Given the description of an element on the screen output the (x, y) to click on. 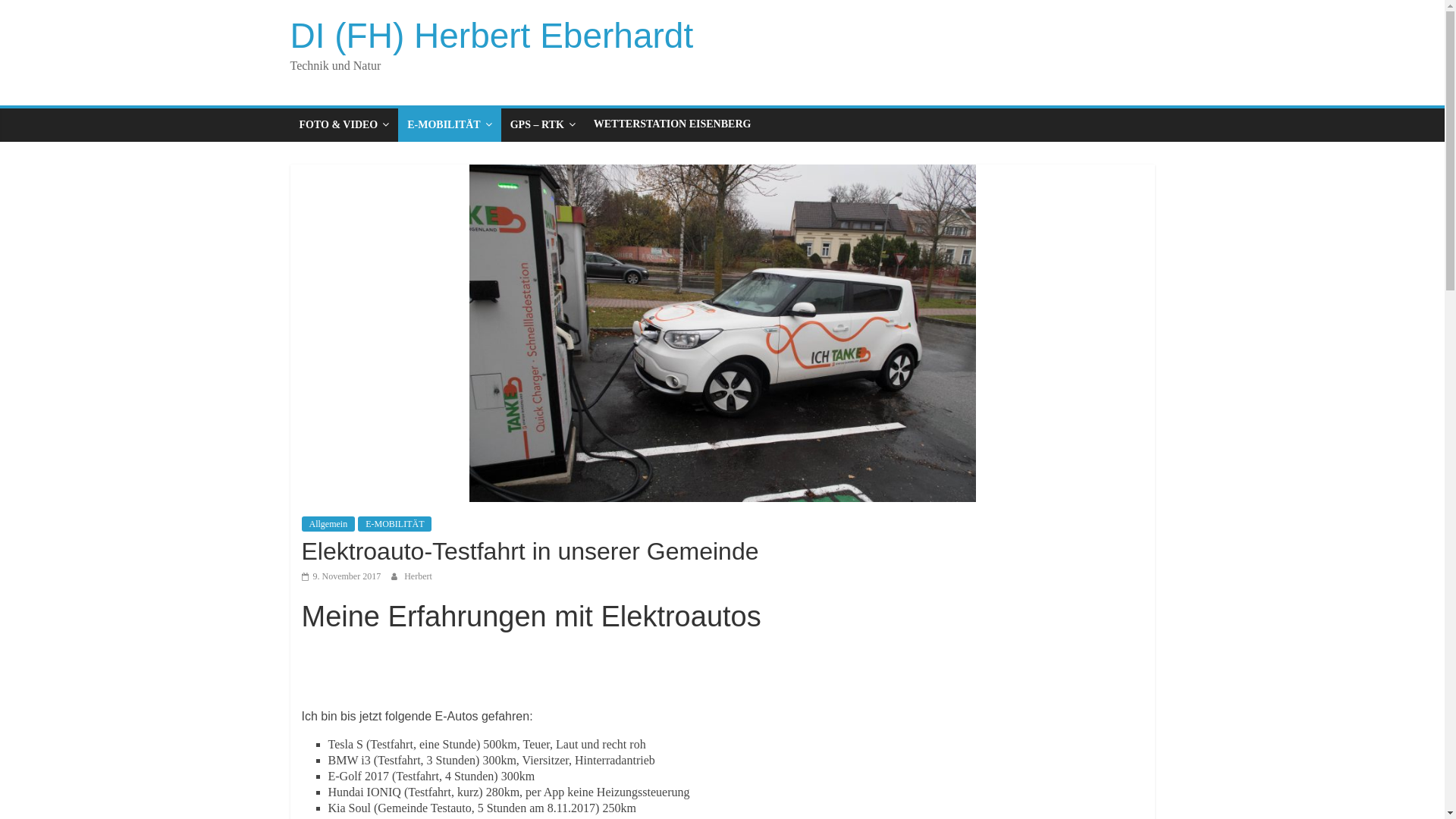
Herbert Element type: text (418, 576)
FOTO & VIDEO Element type: text (343, 124)
DI (FH) Herbert Eberhardt Element type: text (491, 35)
WETTERSTATION EISENBERG Element type: text (672, 124)
9. November 2017 Element type: text (341, 576)
Allgemein Element type: text (328, 523)
